Given the description of an element on the screen output the (x, y) to click on. 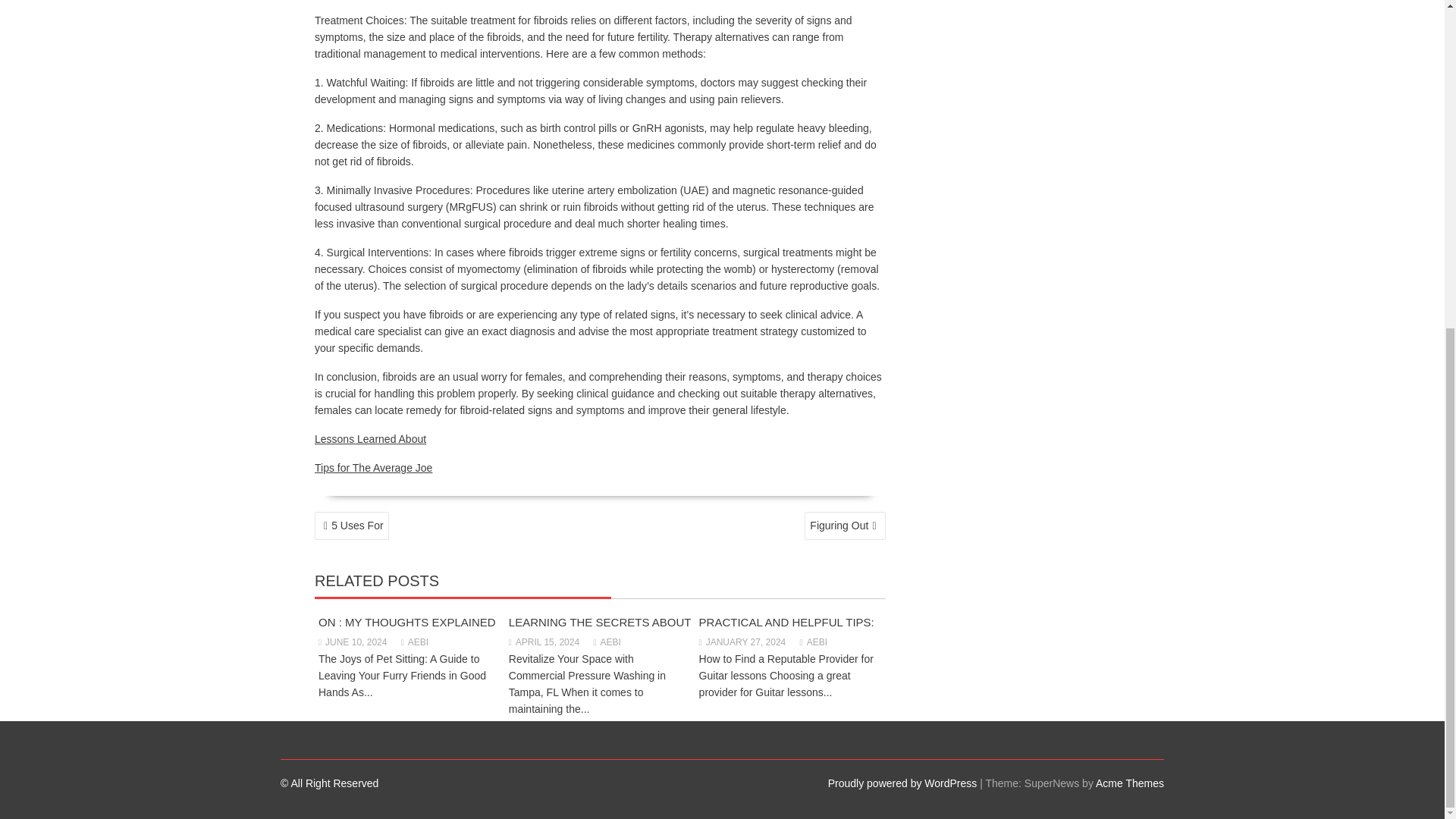
5 Uses For (351, 525)
JUNE 10, 2024 (352, 642)
Proudly powered by WordPress (902, 783)
APRIL 15, 2024 (543, 642)
Acme Themes (1129, 783)
ON : MY THOUGHTS EXPLAINED (407, 621)
AEBI (813, 642)
JANUARY 27, 2024 (742, 642)
Tips for The Average Joe (373, 467)
LEARNING THE SECRETS ABOUT (599, 621)
